Given the description of an element on the screen output the (x, y) to click on. 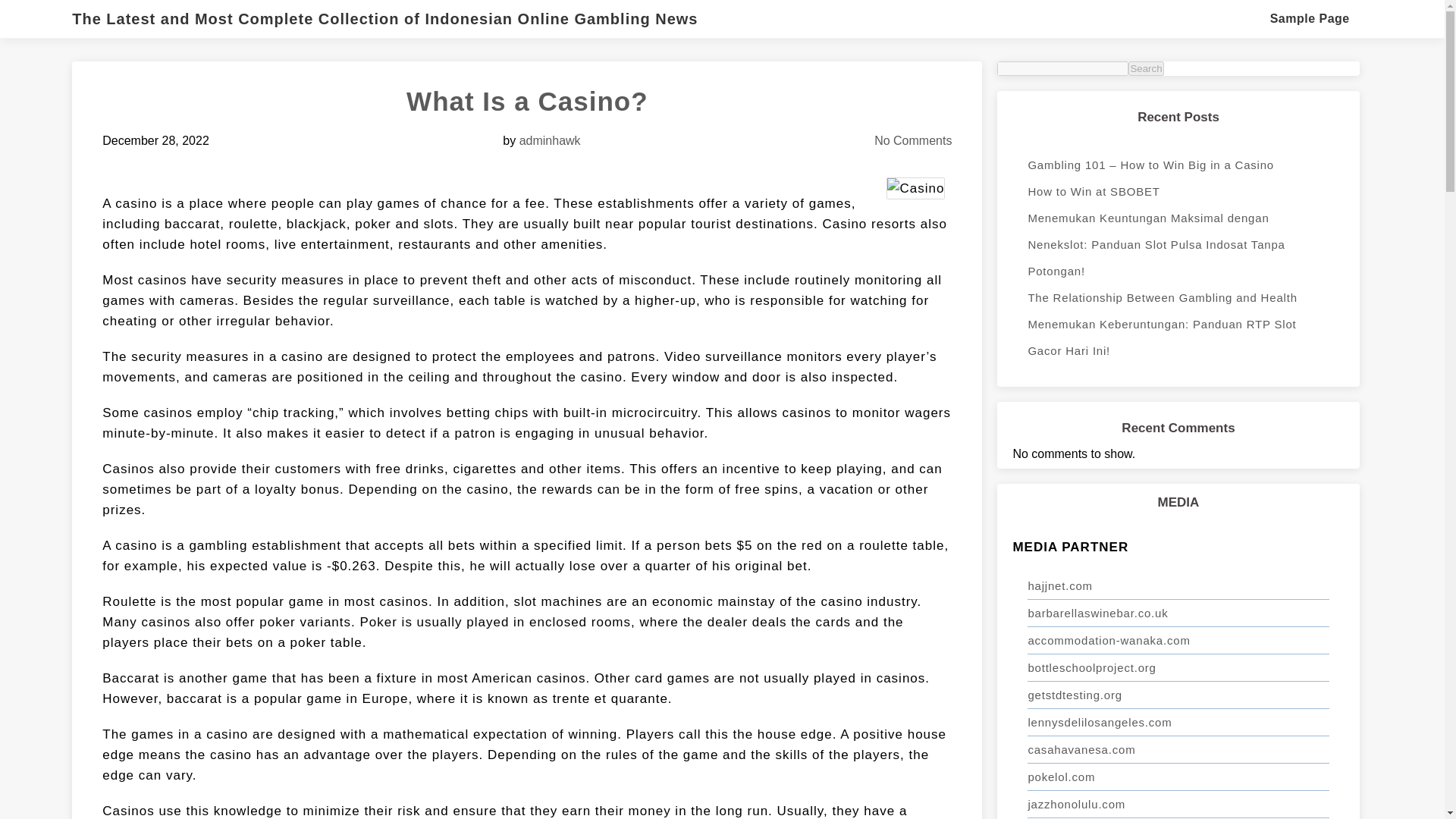
accommodation-wanaka.com (1177, 640)
lennysdelilosangeles.com (1177, 722)
jazzhonolulu.com (1177, 804)
Search (1145, 68)
Posts by adminhawk (549, 140)
getstdtesting.org (1177, 695)
hajjnet.com (1177, 585)
